Given the description of an element on the screen output the (x, y) to click on. 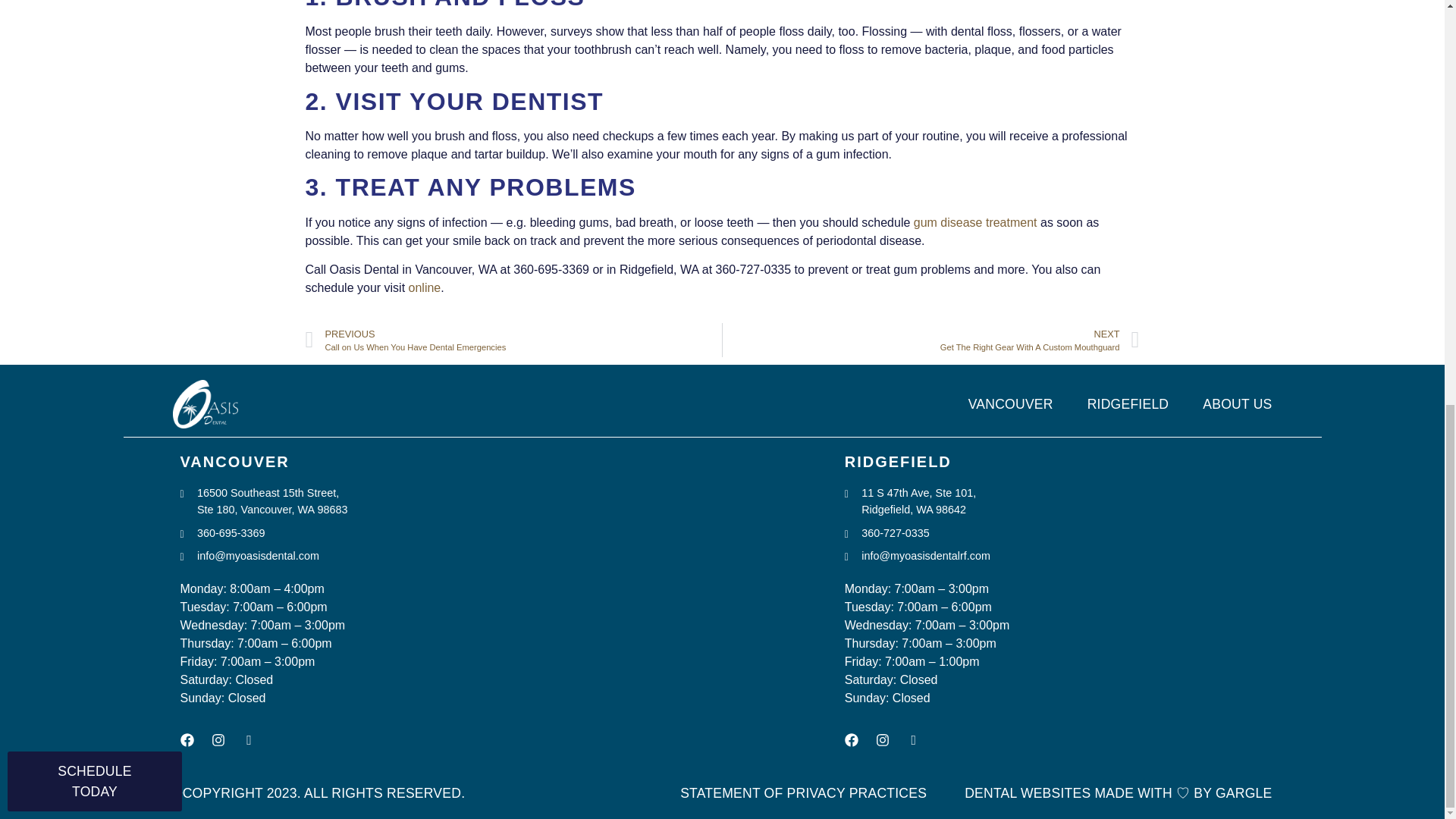
Oasis Dental Ridgefield (1158, 559)
Oasis Dental Vancouver (528, 559)
